Given the description of an element on the screen output the (x, y) to click on. 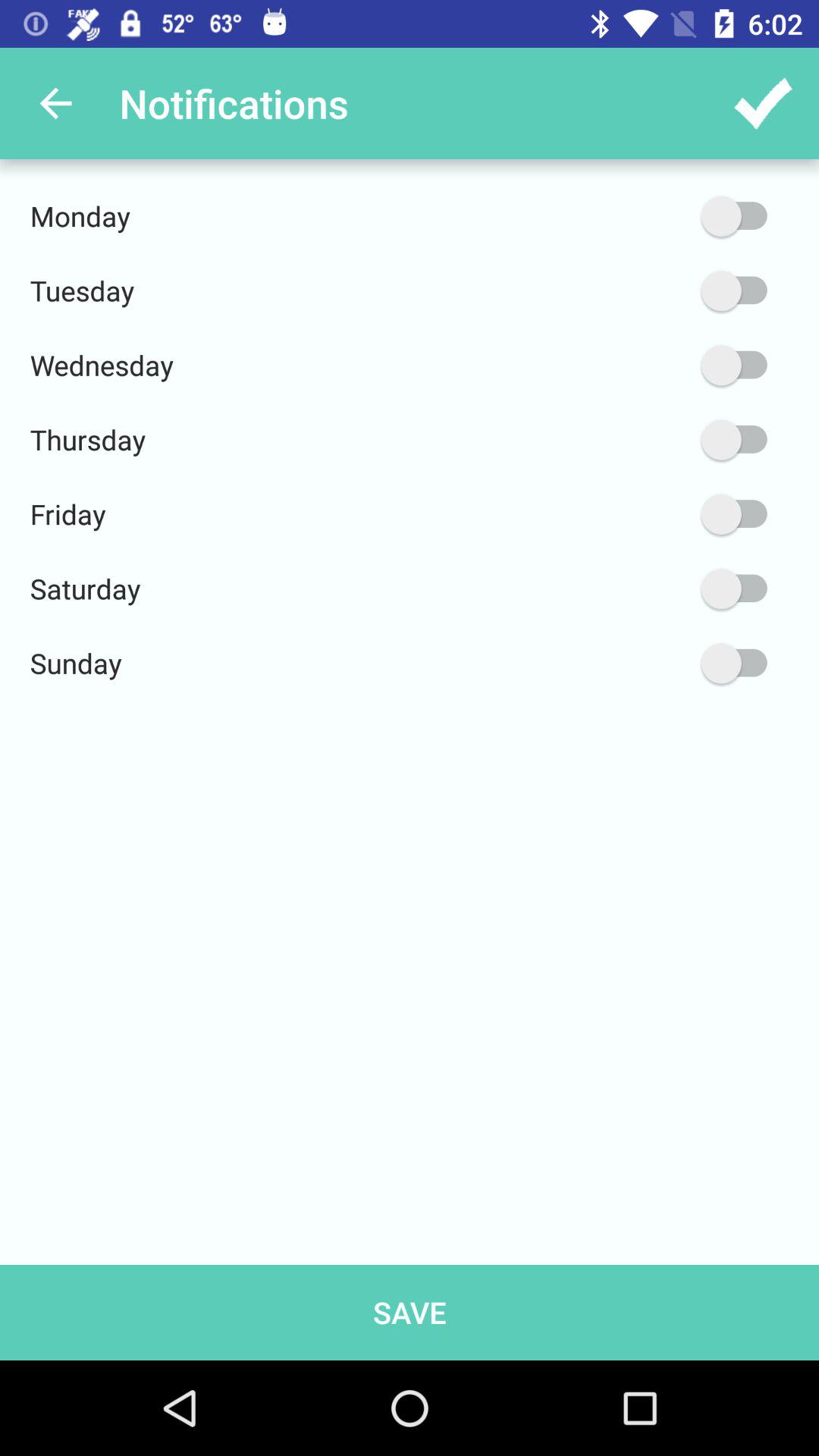
toggle the monday option (661, 216)
